Given the description of an element on the screen output the (x, y) to click on. 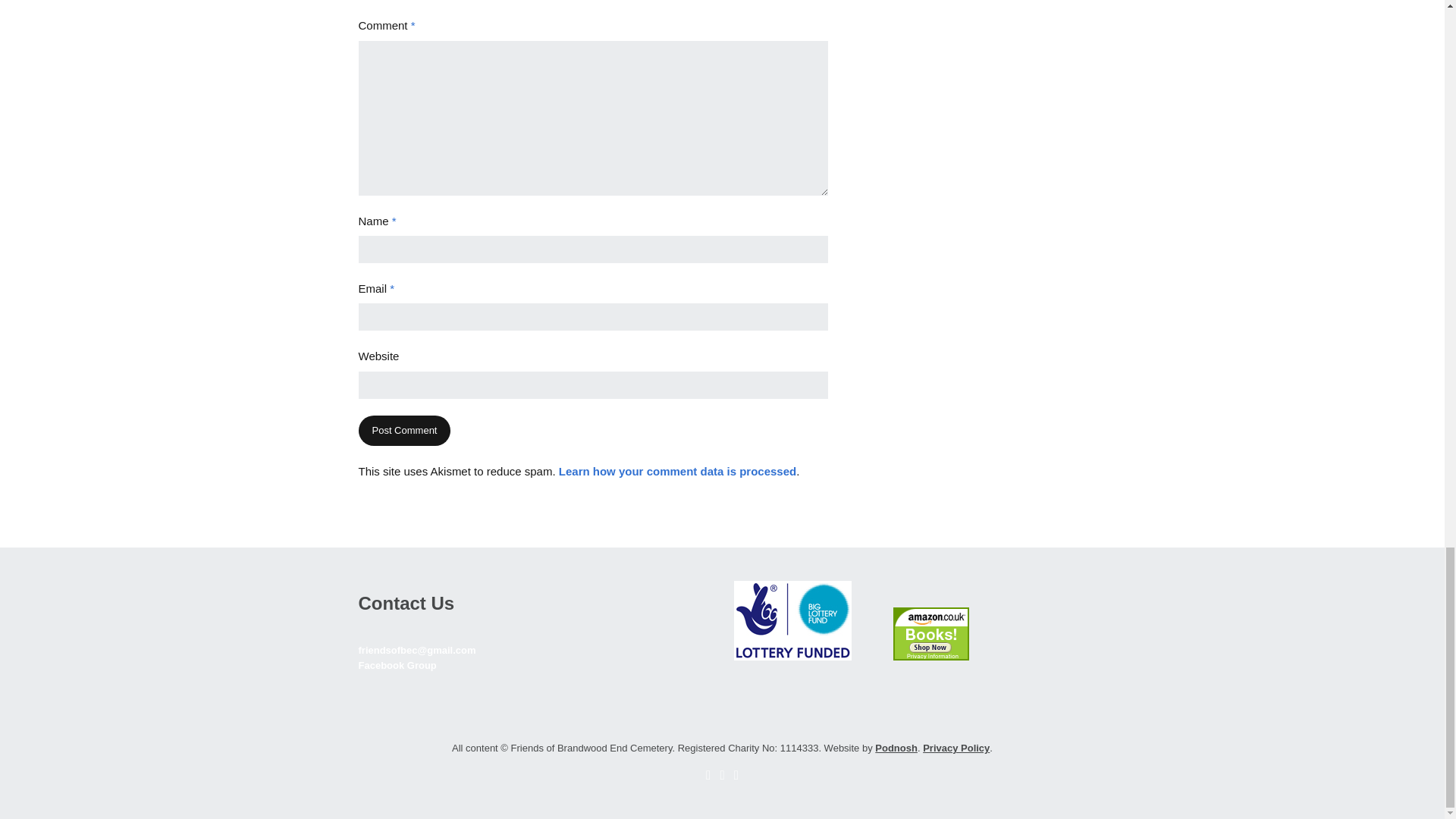
Post Comment (403, 430)
Post Comment (403, 430)
Learn how your comment data is processed (677, 471)
